Given the description of an element on the screen output the (x, y) to click on. 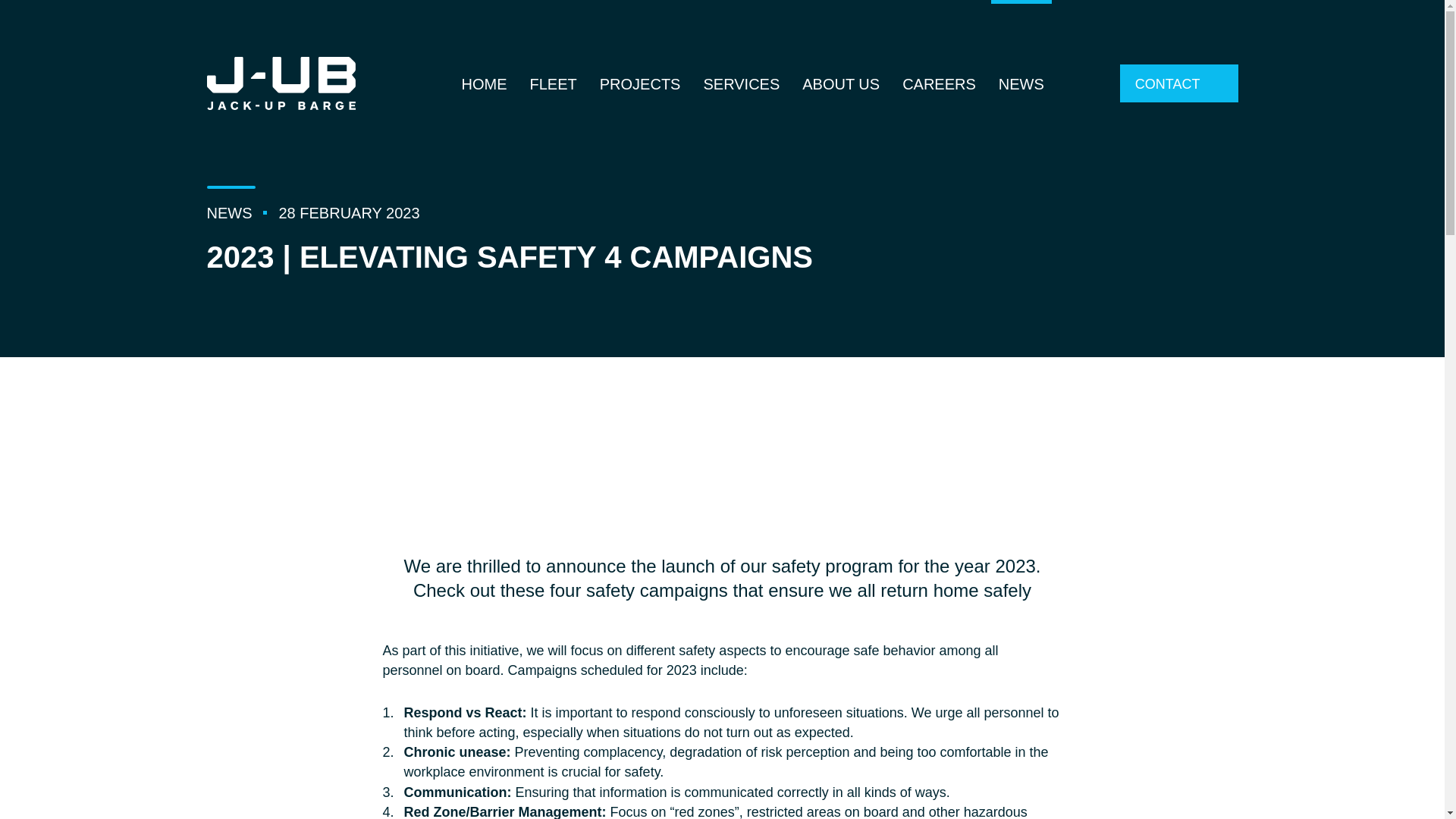
ABOUT US (840, 83)
HOME (483, 83)
CONTACT (1179, 83)
SERVICES (740, 83)
Jack-Up Barge (280, 82)
PROJECTS (640, 83)
NEWS (1020, 83)
CAREERS (938, 83)
FLEET (552, 83)
